Given the description of an element on the screen output the (x, y) to click on. 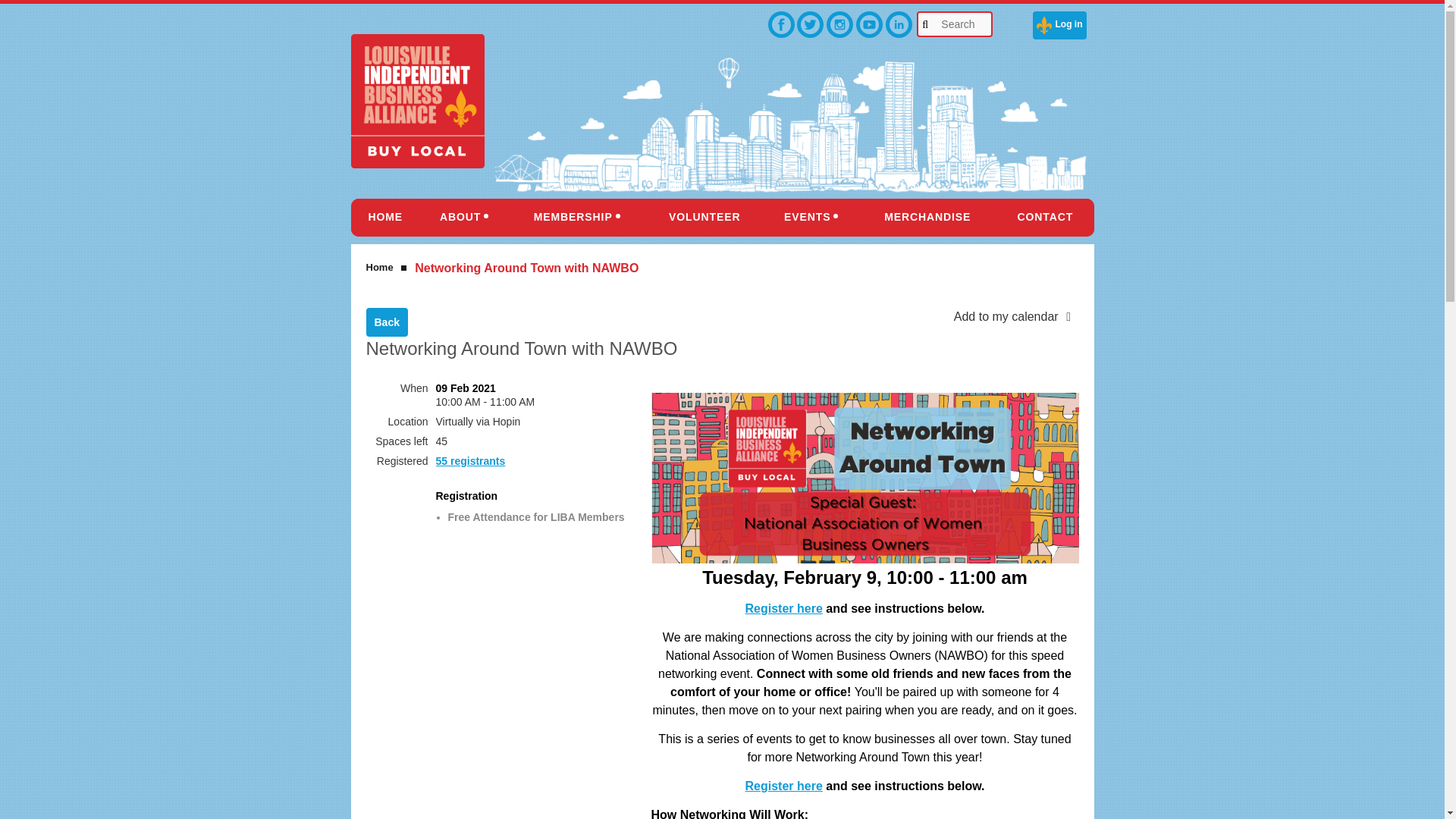
HOME (385, 217)
VOLUNTEER (703, 217)
Log in (1059, 25)
ABOUT (464, 217)
MEMBERSHIP (576, 217)
Home (385, 217)
About (464, 217)
EVENTS (810, 217)
